Given the description of an element on the screen output the (x, y) to click on. 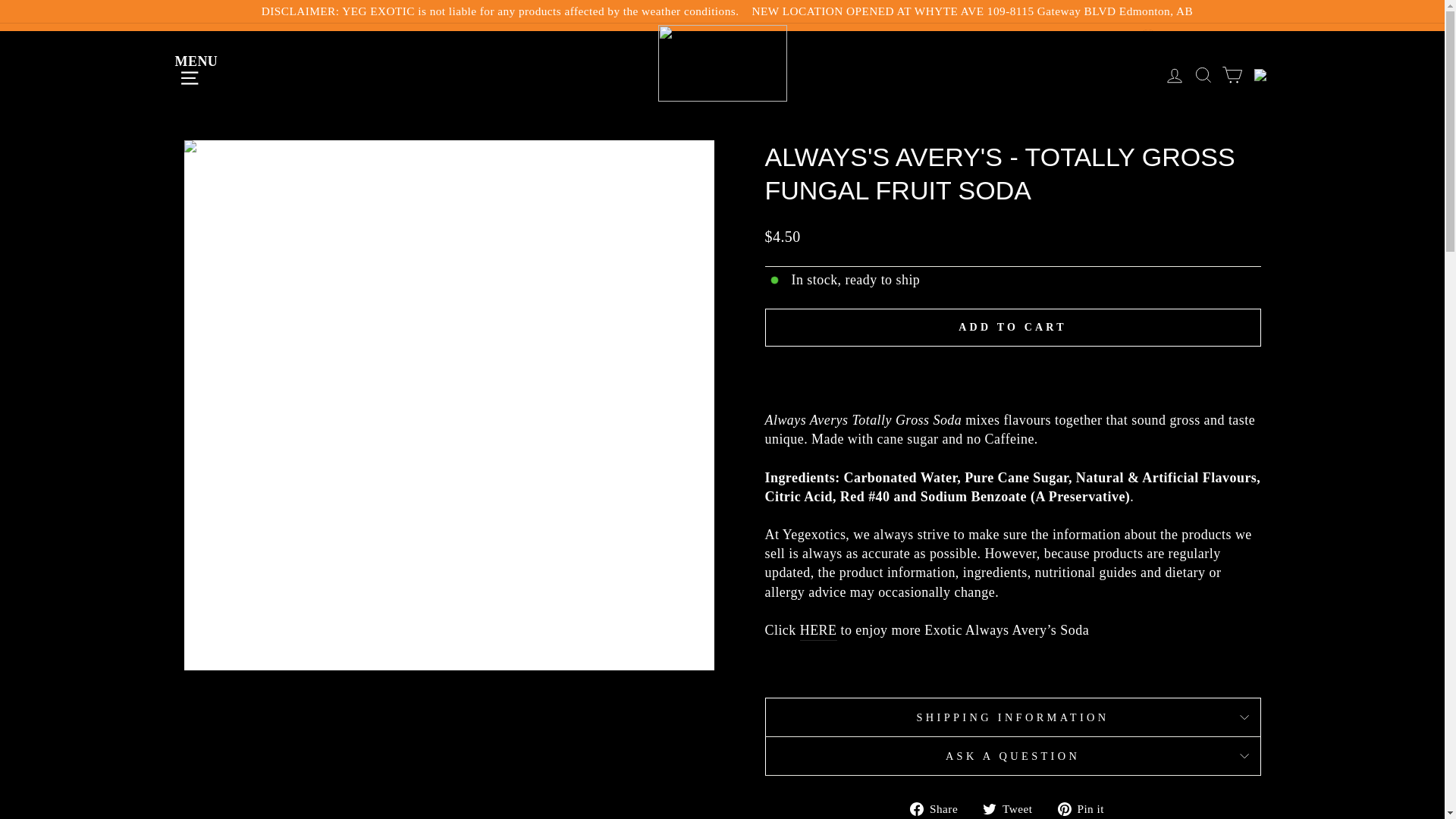
Share on Facebook (939, 807)
Pin on Pinterest (1086, 807)
twitter (988, 808)
Tweet on Twitter (1012, 807)
